Given the description of an element on the screen output the (x, y) to click on. 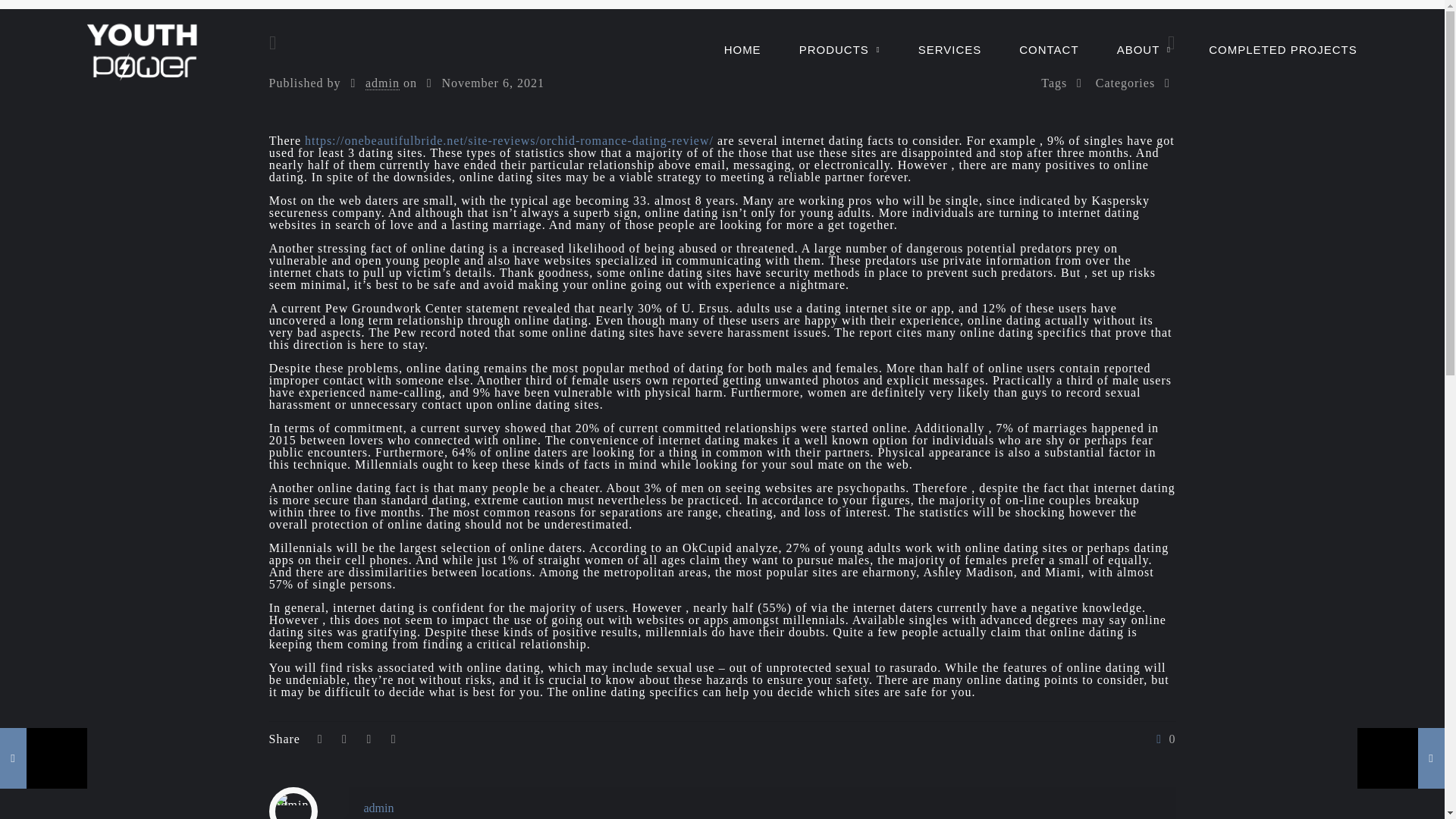
admin (381, 83)
PRODUCTS (839, 49)
COMPLETED PROJECTS (1282, 49)
SERVICES (949, 49)
